Given the description of an element on the screen output the (x, y) to click on. 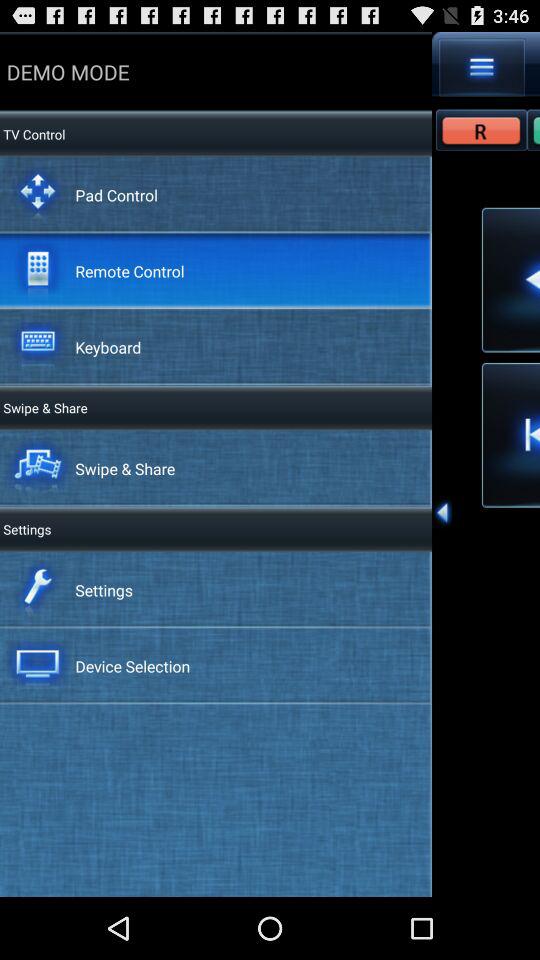
turn off keyboard (108, 346)
